Given the description of an element on the screen output the (x, y) to click on. 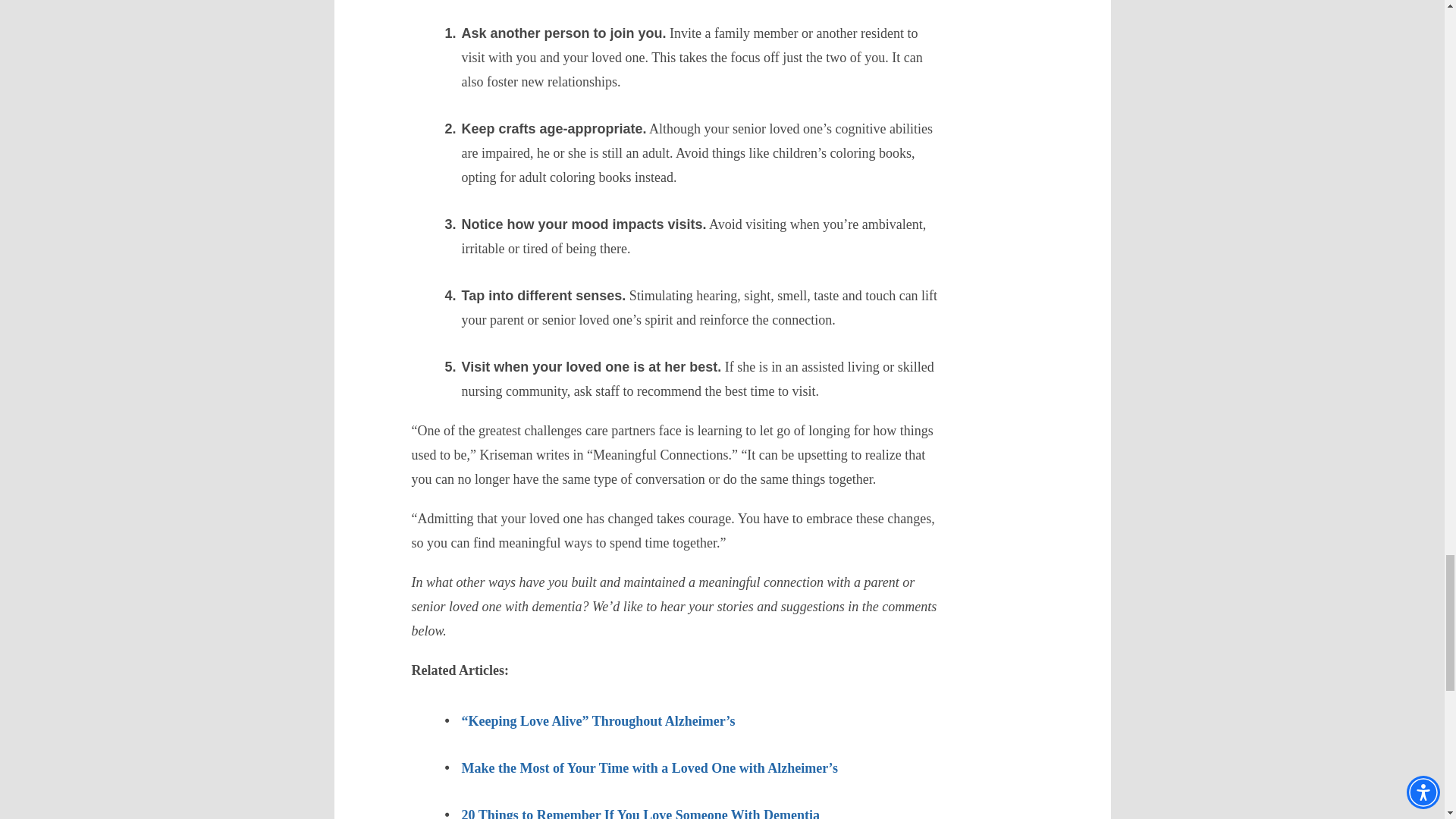
20 Things to Remember If You Love Someone With Dementia (640, 813)
